Given the description of an element on the screen output the (x, y) to click on. 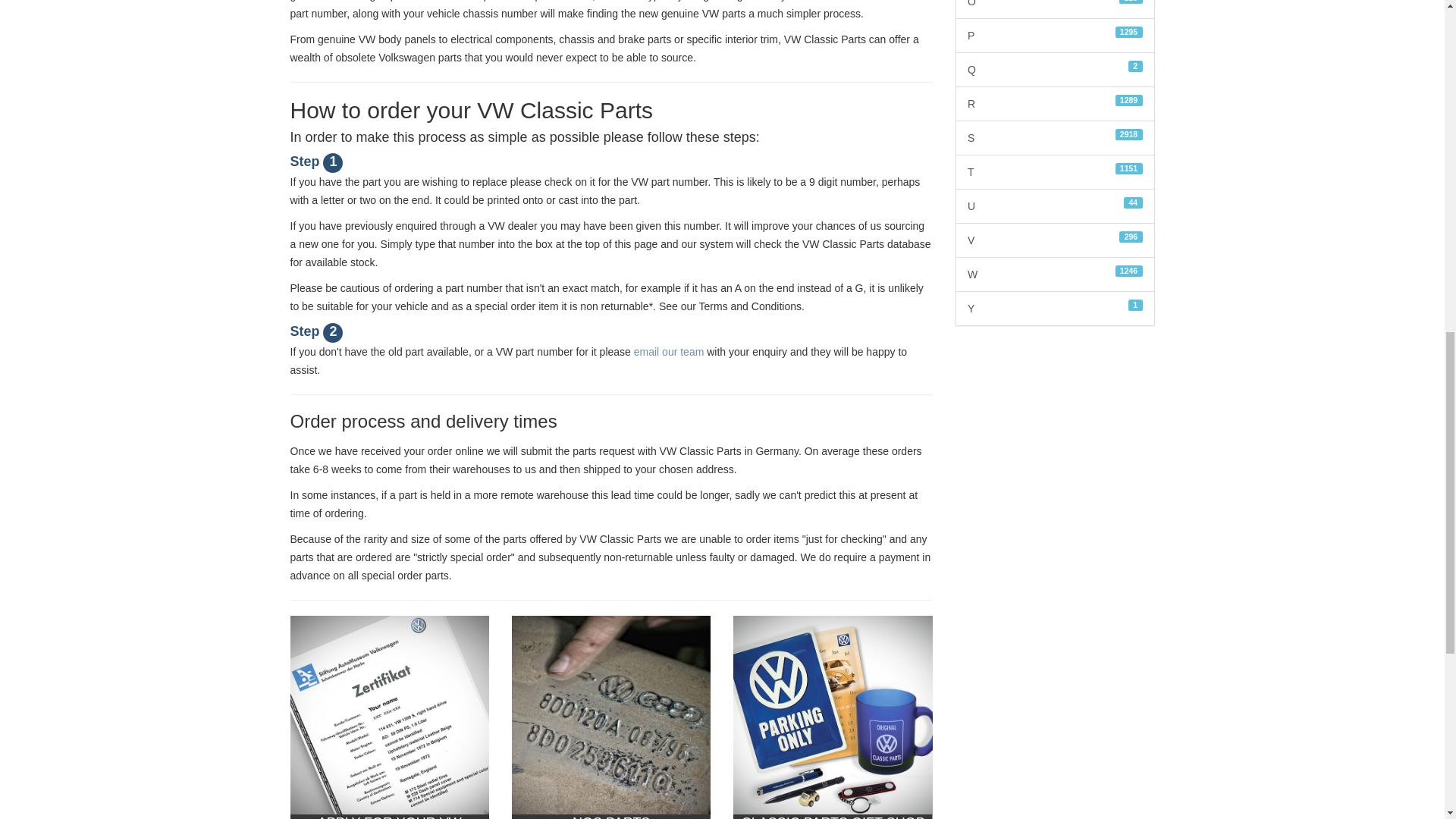
email our team (668, 351)
CLASSIC PARTS GIFT SHOP (832, 717)
New old stock (587, 816)
NOS PARTS (611, 717)
APPLY FOR YOUR VW CERTIFICATE (388, 717)
